Given the description of an element on the screen output the (x, y) to click on. 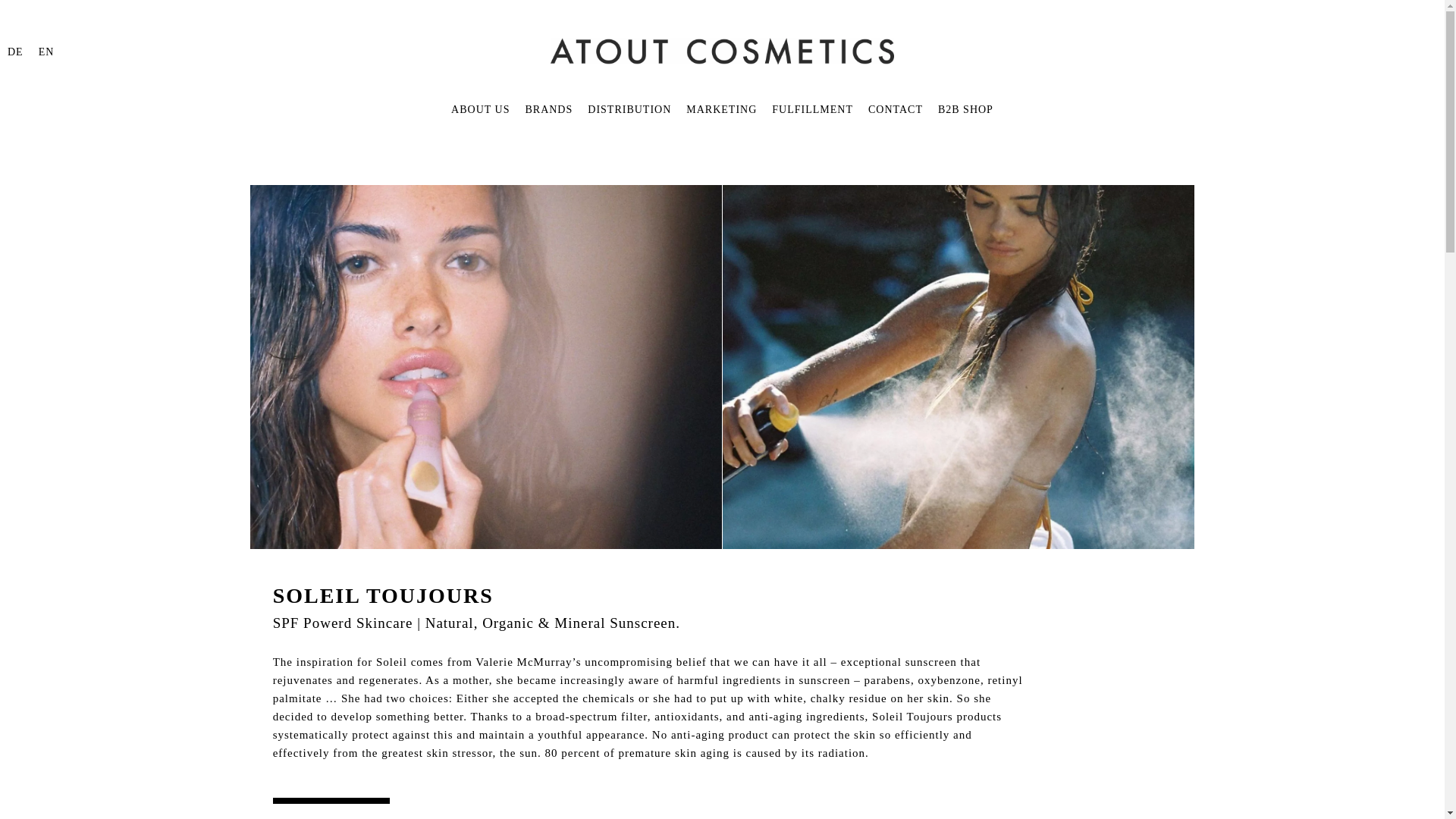
BRANDS (548, 128)
EN (47, 51)
ABOUT US (480, 128)
DE (15, 51)
